Given the description of an element on the screen output the (x, y) to click on. 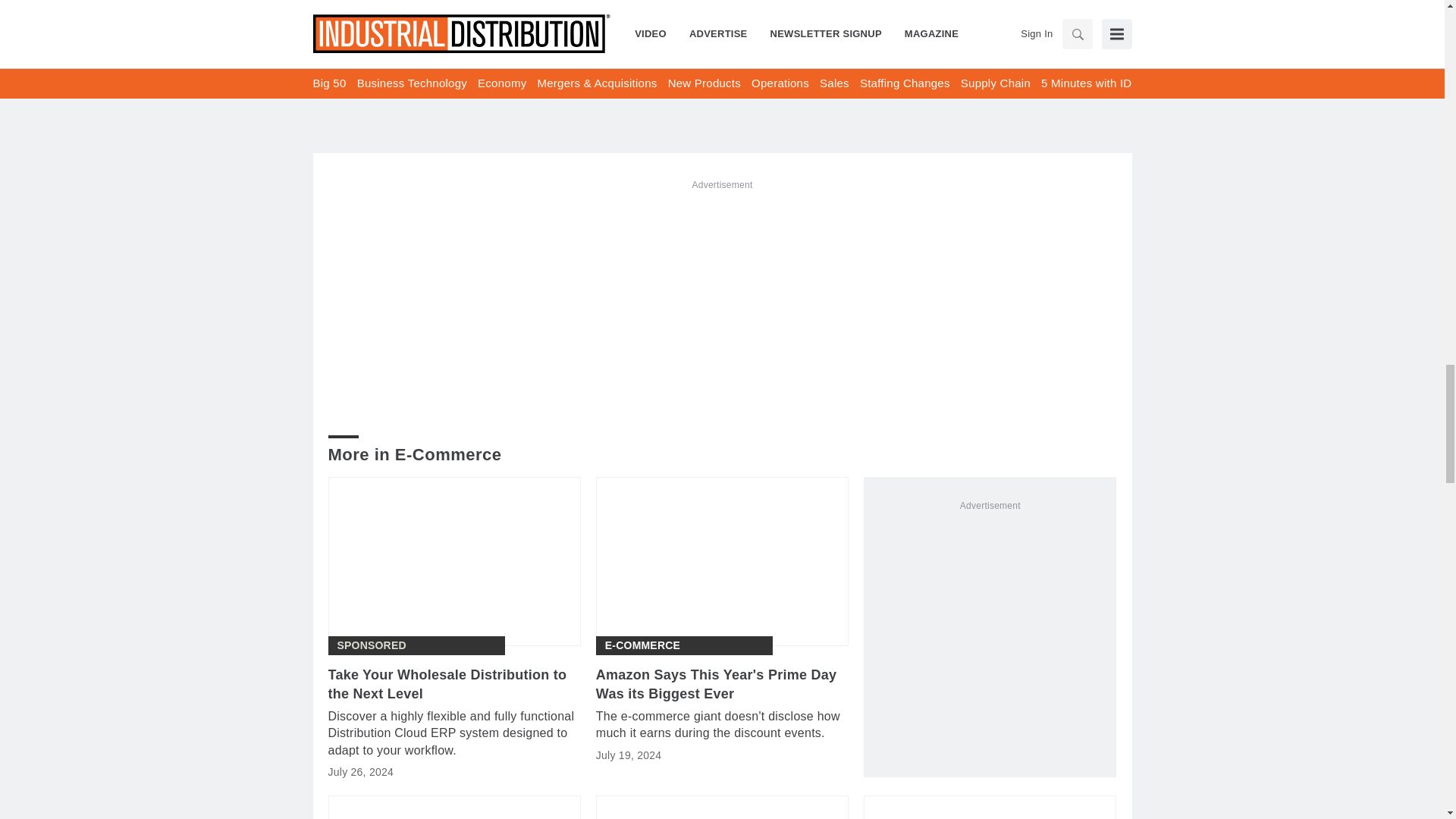
Sponsored (371, 645)
E-Commerce (642, 645)
